Given the description of an element on the screen output the (x, y) to click on. 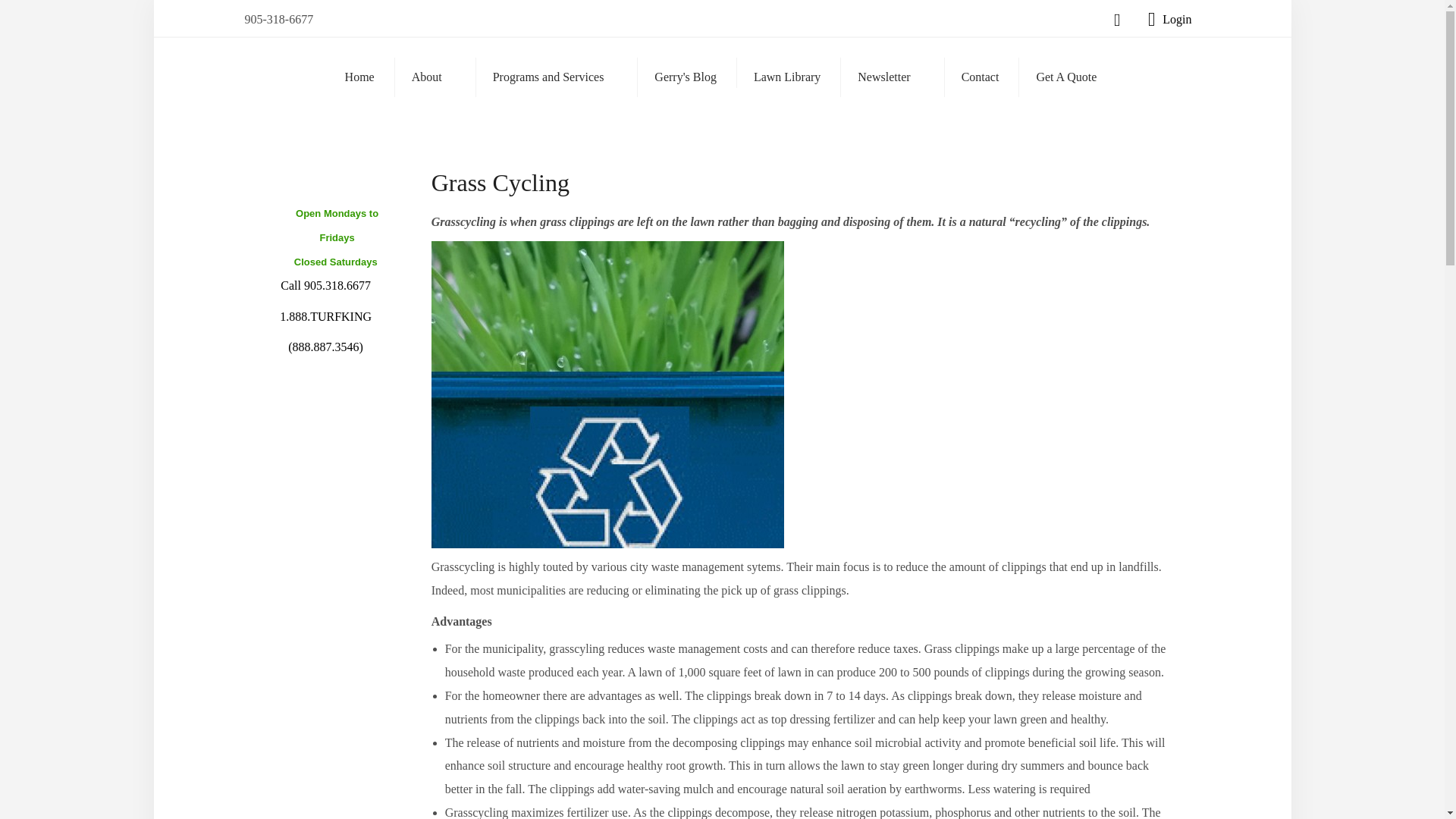
Home (359, 76)
Lawn Library (787, 76)
Search (722, 22)
Get A Quote (1065, 76)
Newsletter (890, 76)
Contact (979, 76)
Gerry's Blog (684, 76)
Programs and Services (555, 76)
About (433, 76)
Return Clippings to your Lawn (607, 393)
